Given the description of an element on the screen output the (x, y) to click on. 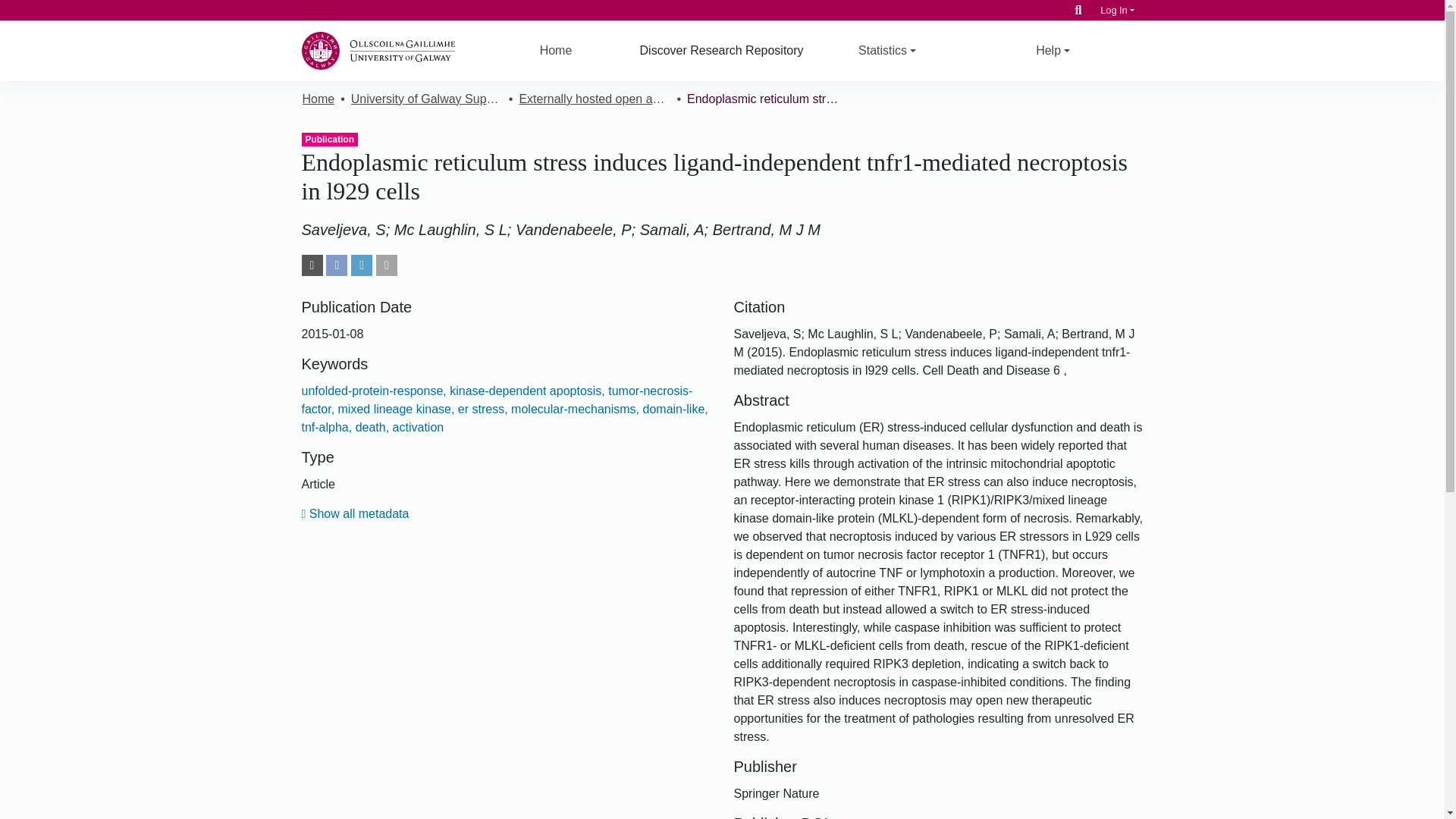
University of Galway Support Services (426, 99)
Home (556, 50)
Log In (1117, 9)
activation (416, 427)
molecular-mechanisms, (573, 408)
Home (317, 99)
tumor-necrosis-factor, (497, 399)
unfolded-protein-response, (373, 390)
Show all metadata (355, 513)
er stress, (480, 408)
Help (1052, 50)
tnf-alpha, (326, 427)
Search (1078, 10)
Statistics (888, 50)
kinase-dependent apoptosis, (525, 390)
